Given the description of an element on the screen output the (x, y) to click on. 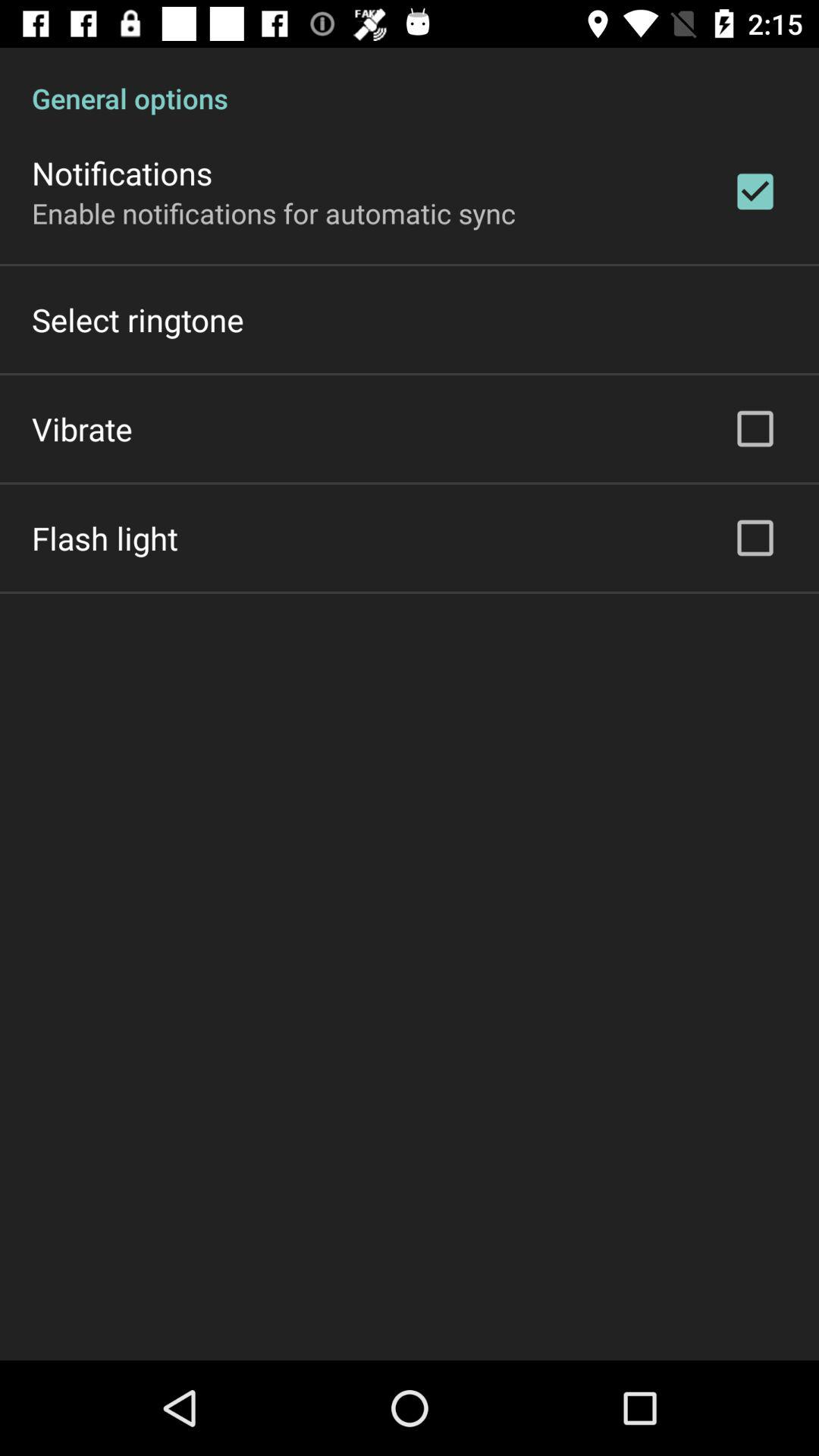
turn on the icon above the flash light icon (81, 428)
